Given the description of an element on the screen output the (x, y) to click on. 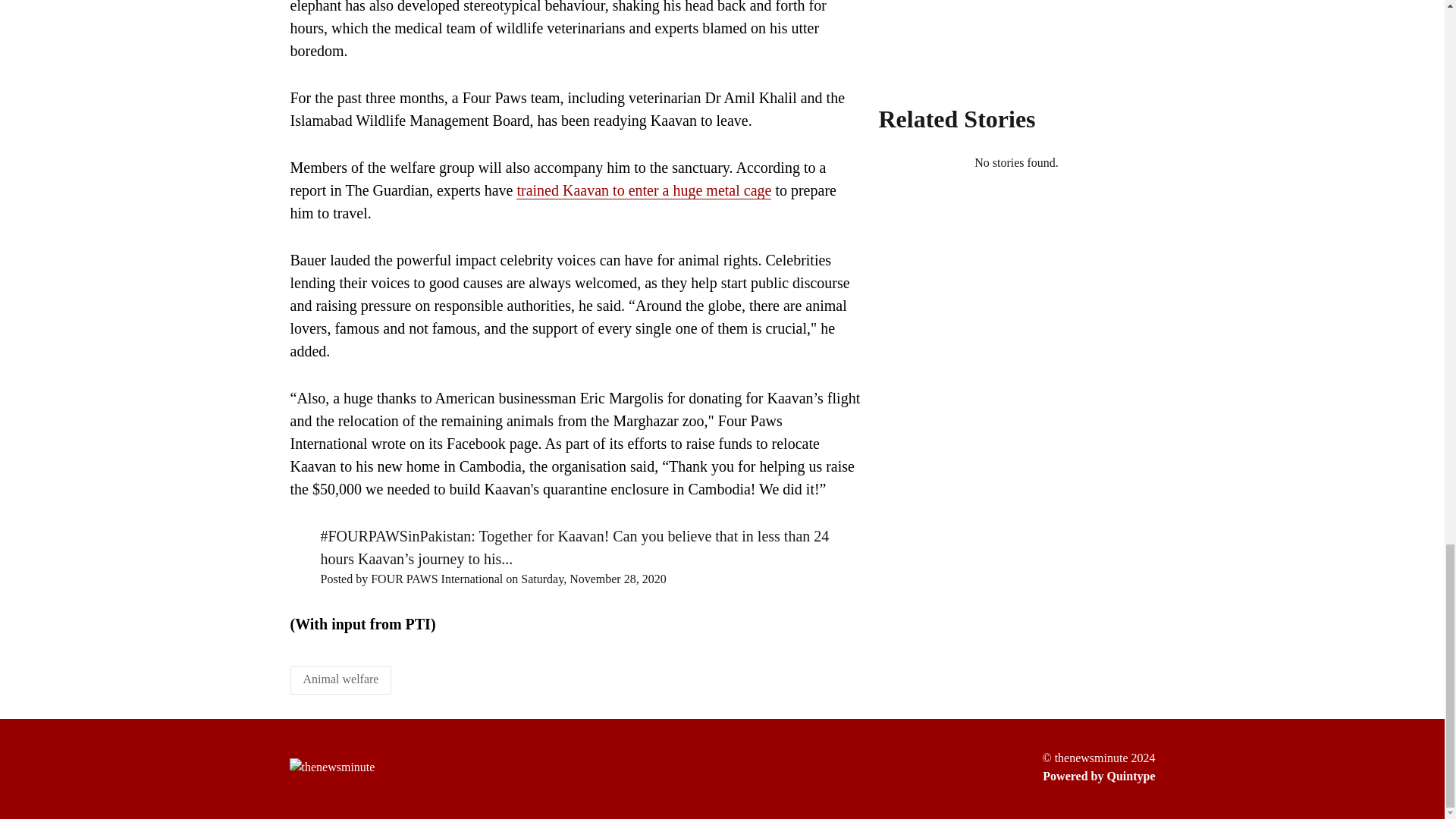
FOUR PAWS International (436, 578)
Saturday, November 28, 2020 (593, 578)
Animal welfare (340, 678)
trained Kaavan to enter a huge metal cage (643, 190)
Powered by Quintype (1098, 776)
